Given the description of an element on the screen output the (x, y) to click on. 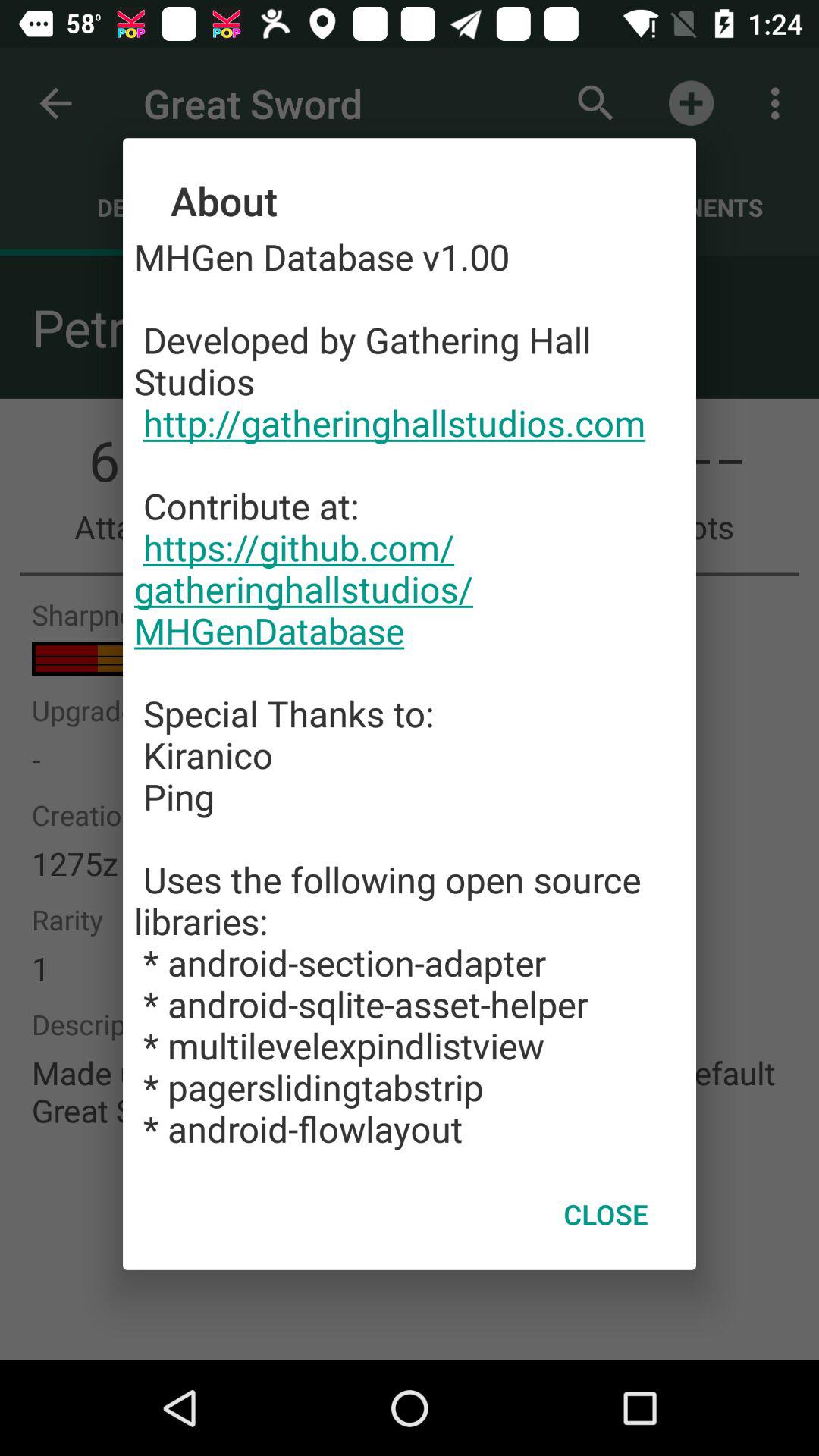
turn on item at the center (409, 692)
